Given the description of an element on the screen output the (x, y) to click on. 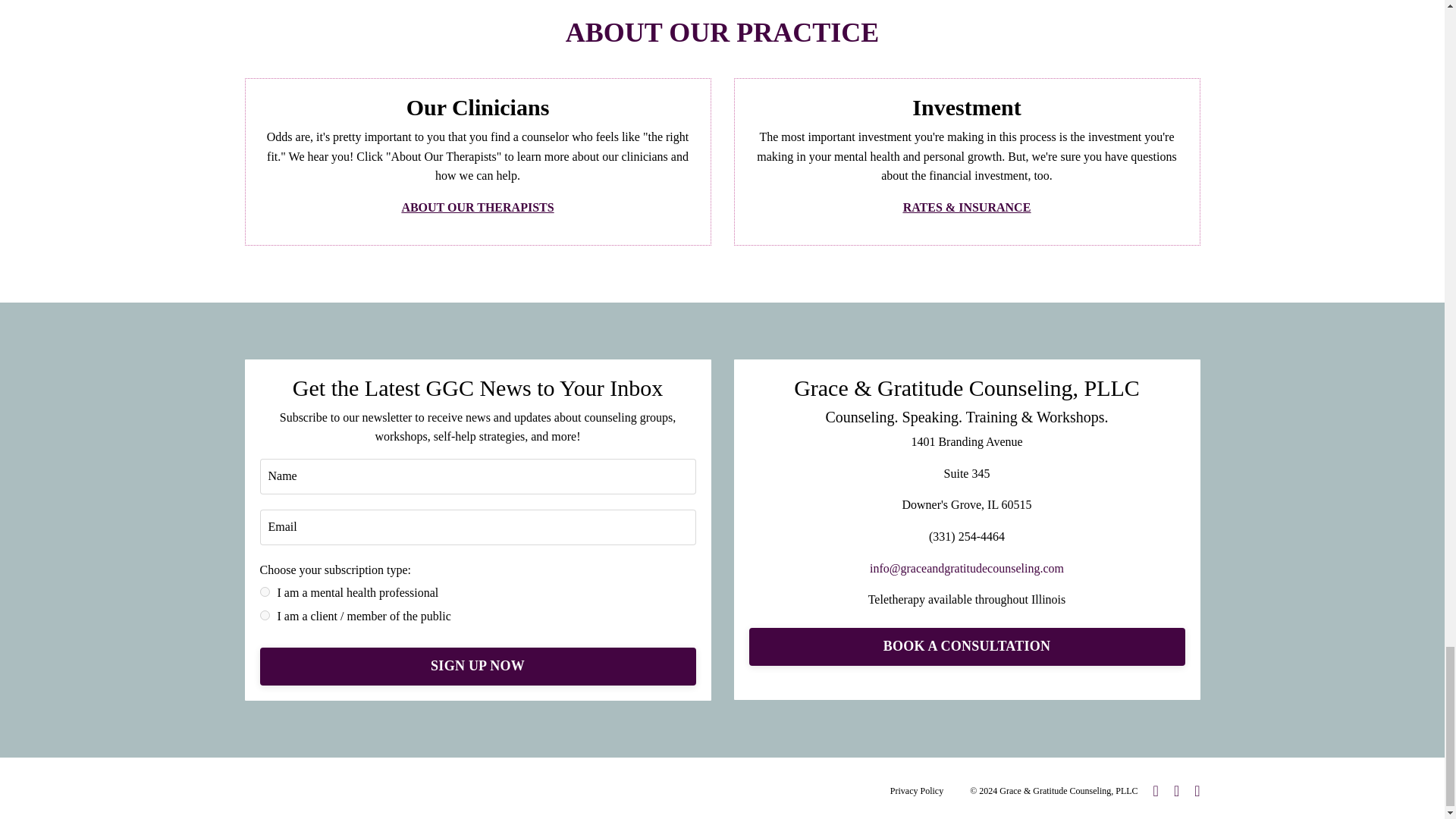
SIGN UP NOW (477, 666)
BOOK A CONSULTATION (967, 646)
I am a mental health professional (264, 592)
ABOUT OUR THERAPISTS (477, 206)
Privacy Policy (916, 790)
